Given the description of an element on the screen output the (x, y) to click on. 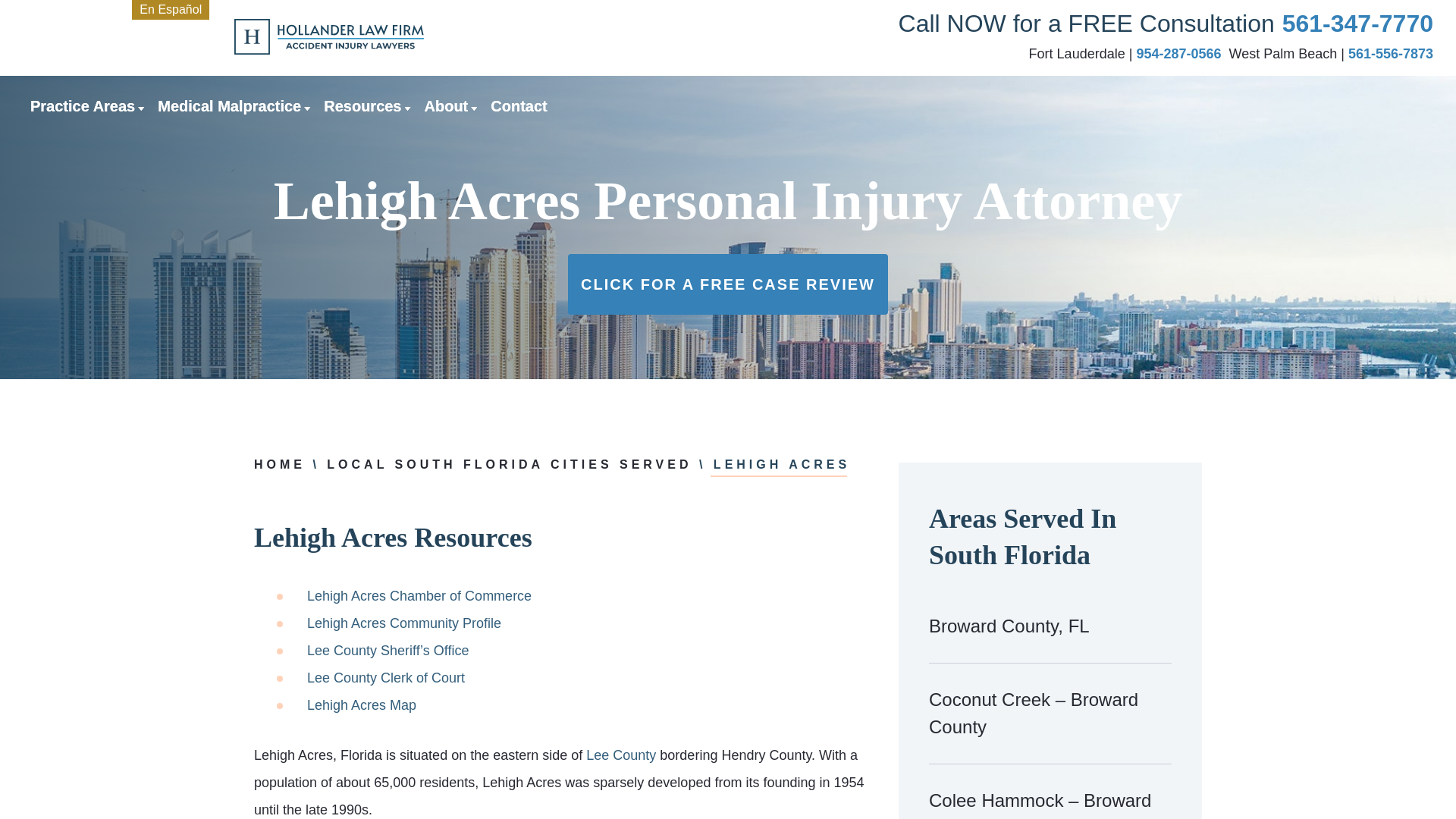
954-287-0566 (1178, 53)
Spanish (170, 9)
Practice Areas (82, 105)
561-556-7873 (1390, 53)
561-347-7770 (1357, 24)
About (446, 105)
Resources (362, 105)
Contact (518, 105)
Medical Malpractice (229, 105)
